Given the description of an element on the screen output the (x, y) to click on. 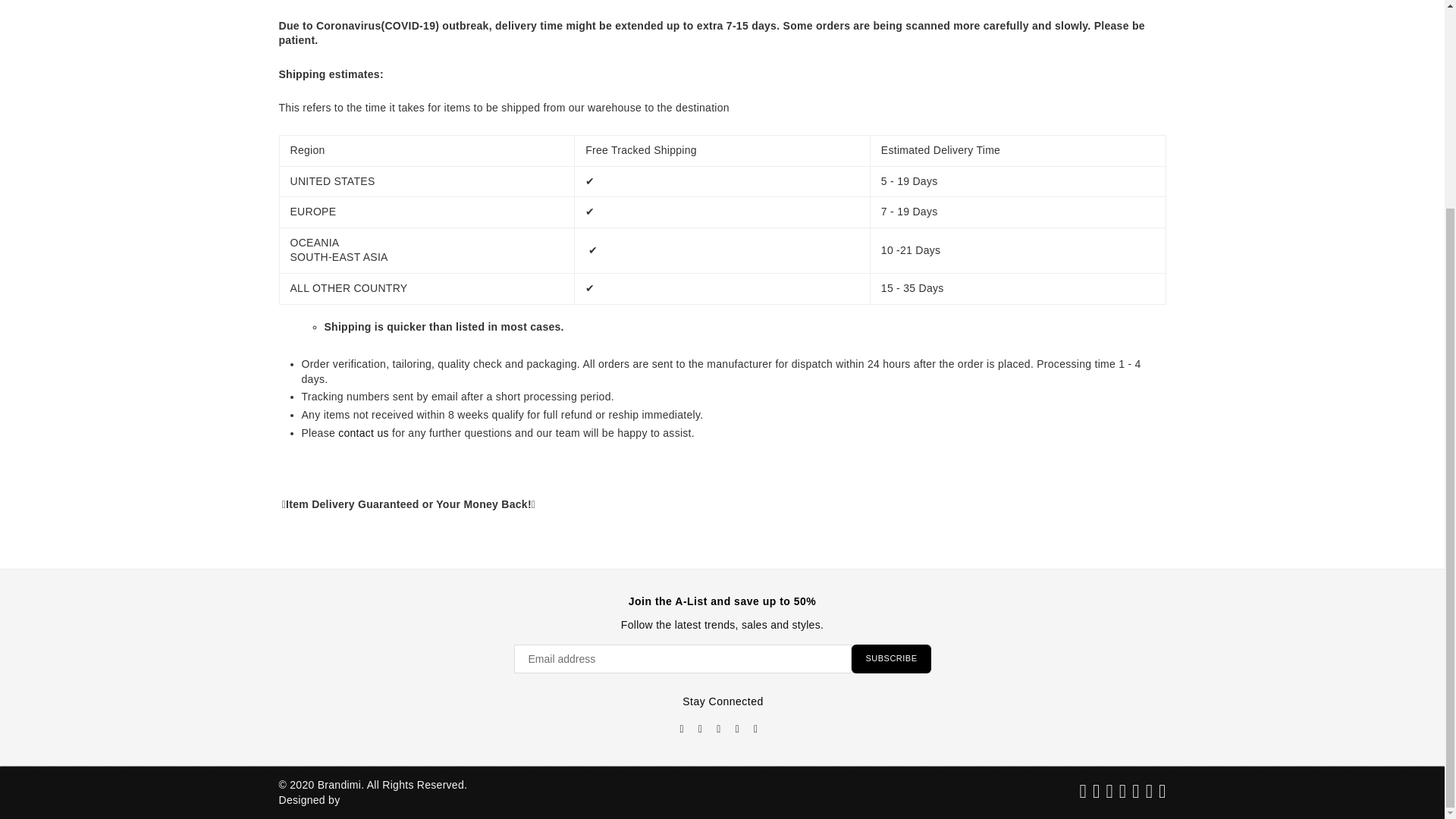
AdornThemes (377, 799)
SUBSCRIBE (890, 658)
contact us (362, 432)
Contact us (362, 432)
